Given the description of an element on the screen output the (x, y) to click on. 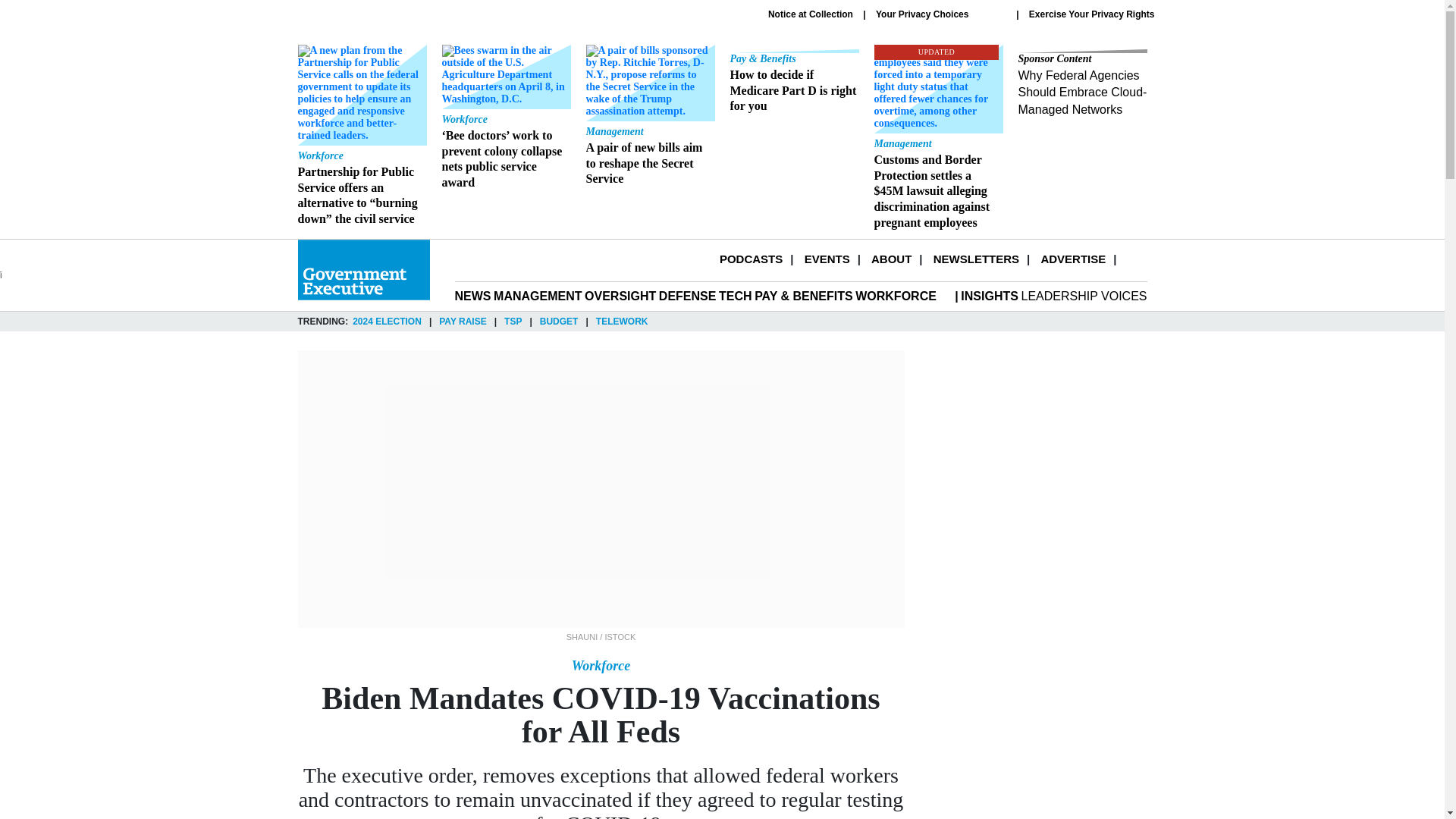
NEWSLETTERS (976, 258)
Exercise Your Privacy Rights (1091, 14)
ABOUT (890, 258)
Notice at Collection (810, 14)
ADVERTISE (1073, 258)
PODCASTS (751, 258)
EVENTS (827, 258)
Your Privacy Choices (941, 14)
